Given the description of an element on the screen output the (x, y) to click on. 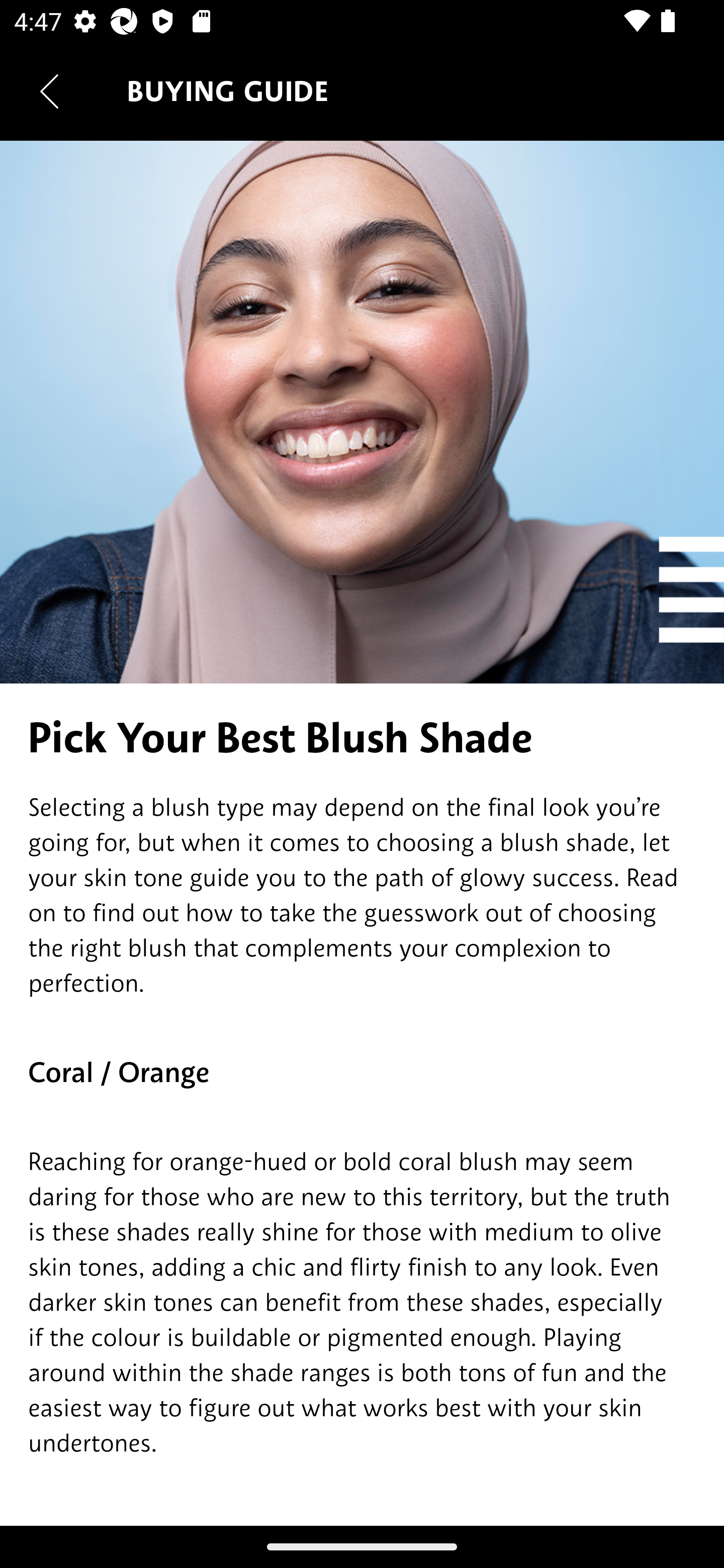
Navigate up (49, 91)
Pick Your Best Blush Shade (362, 737)
Coral / Orange (362, 1072)
